Given the description of an element on the screen output the (x, y) to click on. 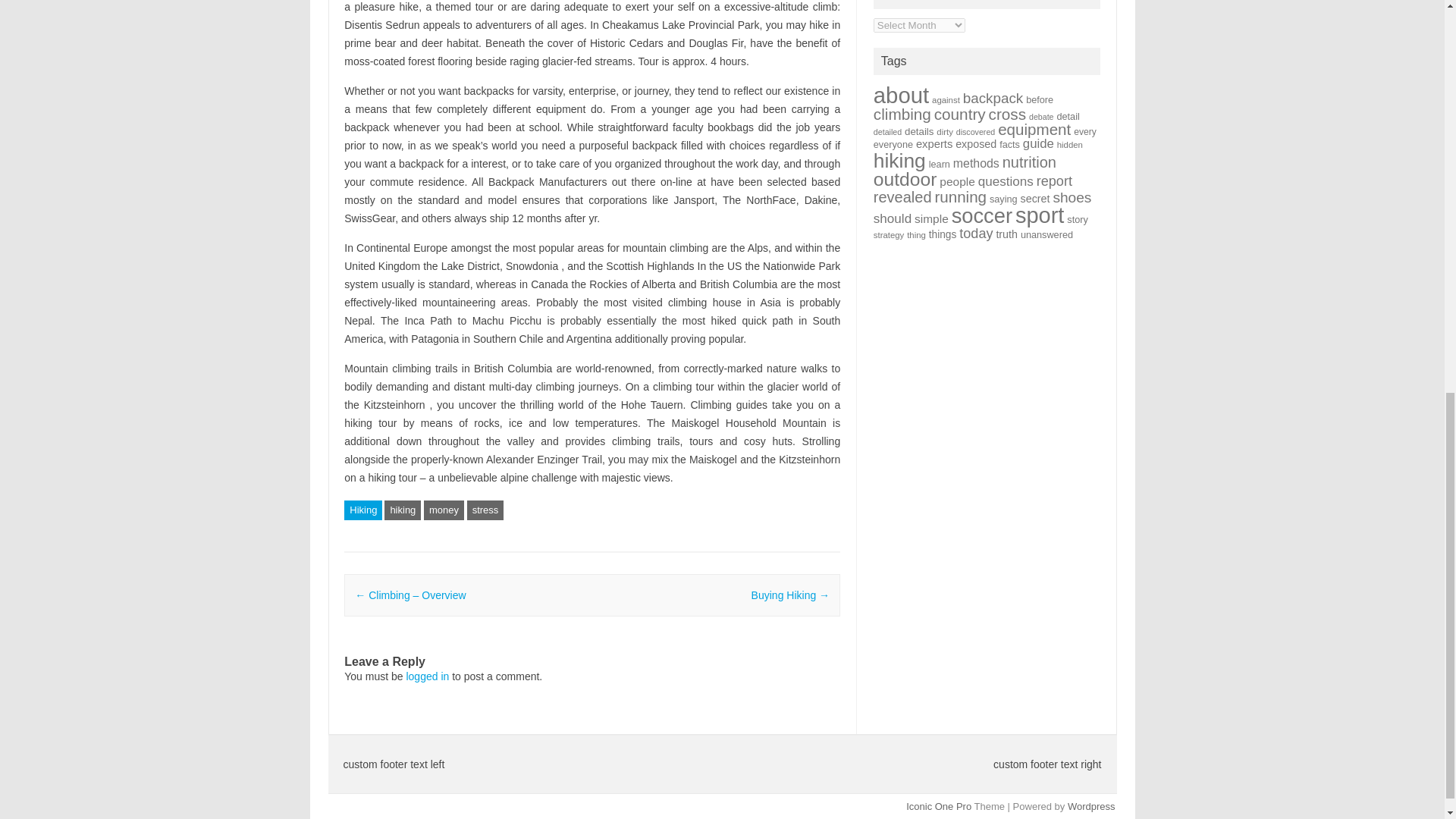
backpack (992, 98)
logged in (427, 676)
about (900, 94)
money (443, 510)
Hiking (362, 510)
climbing (902, 113)
before (1039, 100)
country (959, 113)
hiking (402, 510)
against (945, 99)
